Given the description of an element on the screen output the (x, y) to click on. 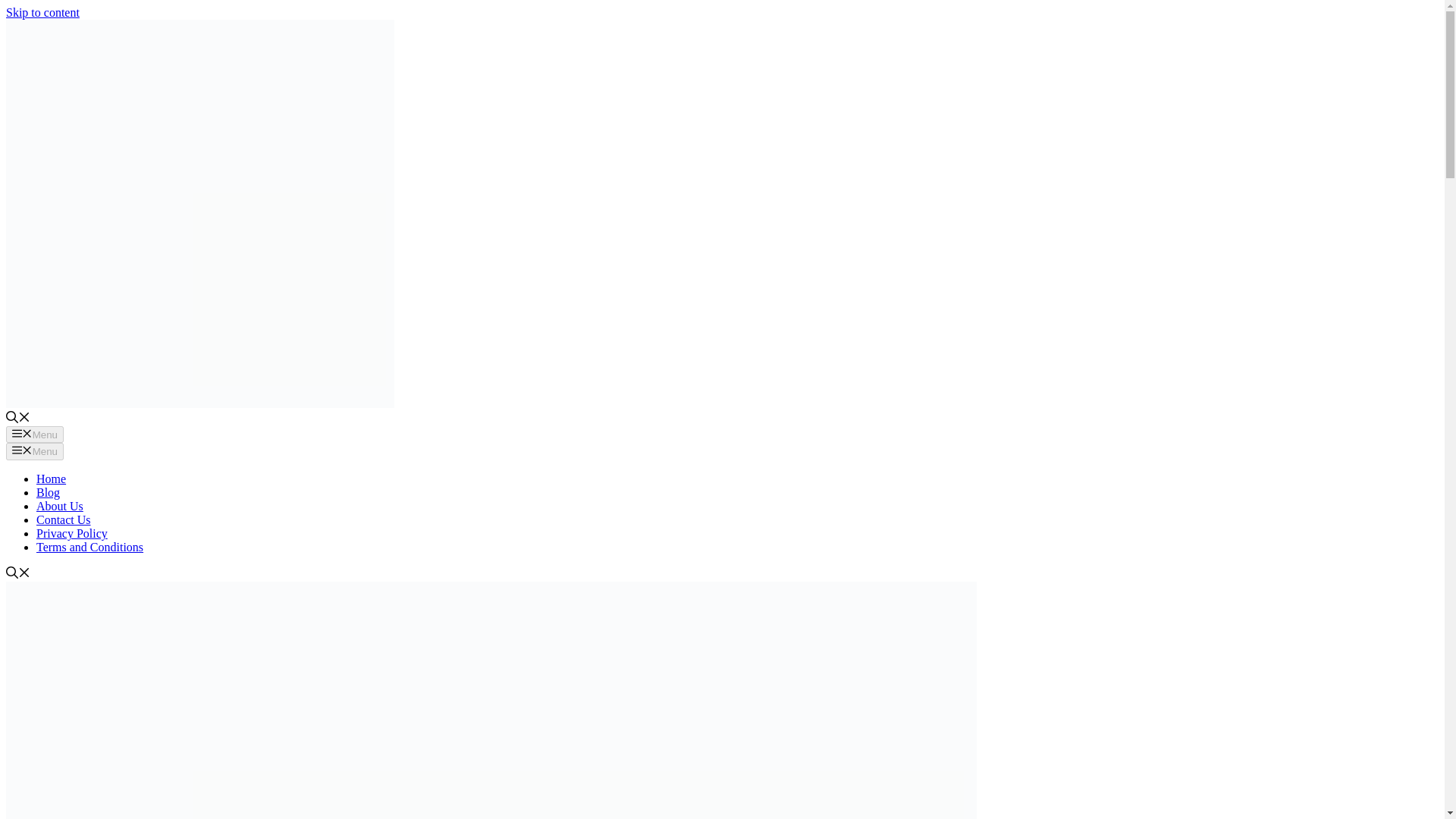
Blog (47, 492)
Home (50, 478)
Menu (34, 451)
Skip to content (42, 11)
Terms and Conditions (89, 546)
Skip to content (42, 11)
About Us (59, 505)
Contact Us (63, 519)
Privacy Policy (71, 533)
Menu (34, 434)
